Given the description of an element on the screen output the (x, y) to click on. 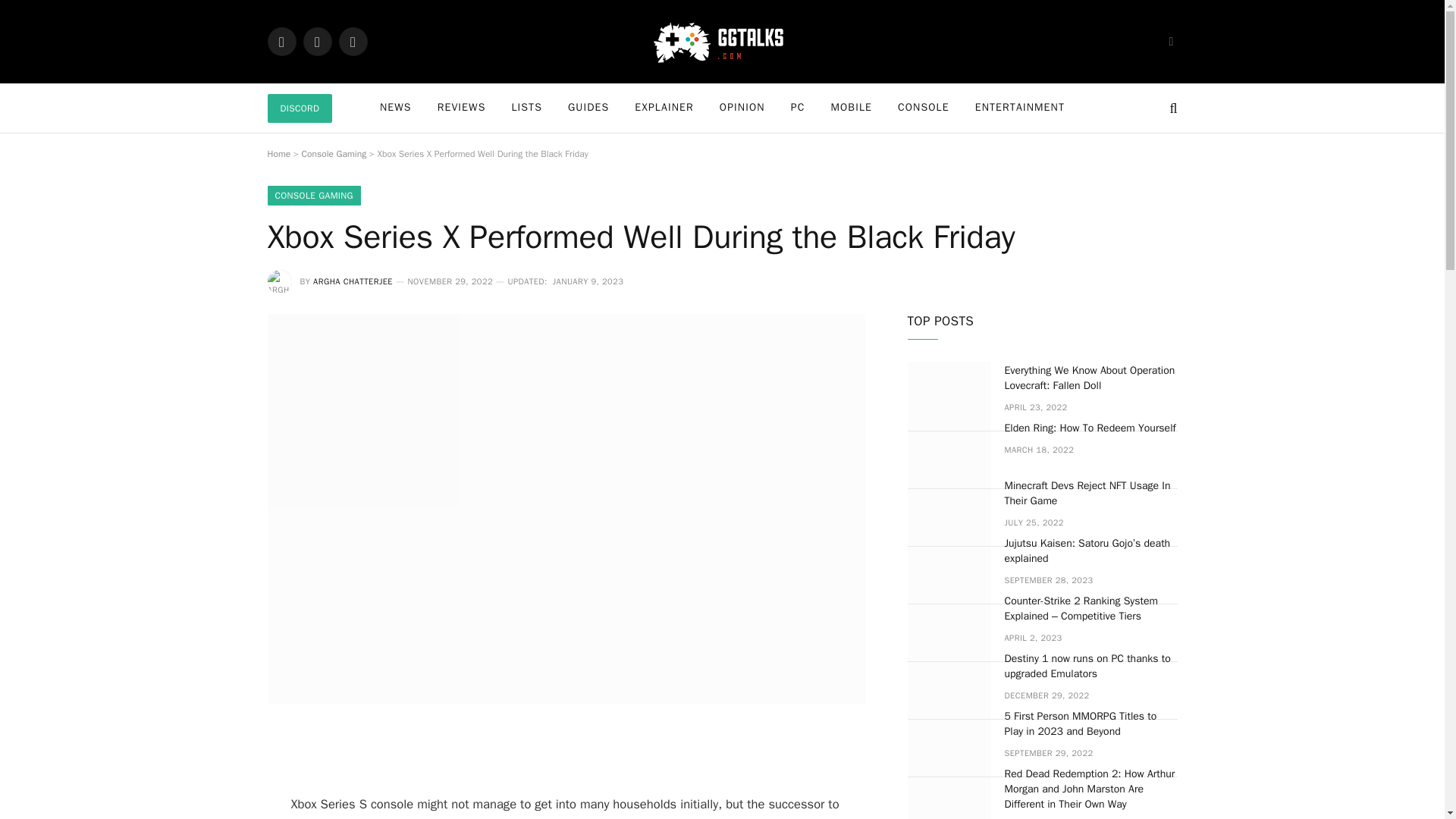
Home (277, 153)
REVIEWS (462, 107)
Console Gaming (333, 153)
Switch to Dark Design - easier on eyes. (1168, 41)
Facebook (280, 41)
GUIDES (587, 107)
OPINION (741, 107)
LISTS (525, 107)
EXPLAINER (663, 107)
ARGHA CHATTERJEE (353, 281)
MOBILE (850, 107)
Instagram (351, 41)
CONSOLE GAMING (312, 195)
ENTERTAINMENT (1019, 107)
